Given the description of an element on the screen output the (x, y) to click on. 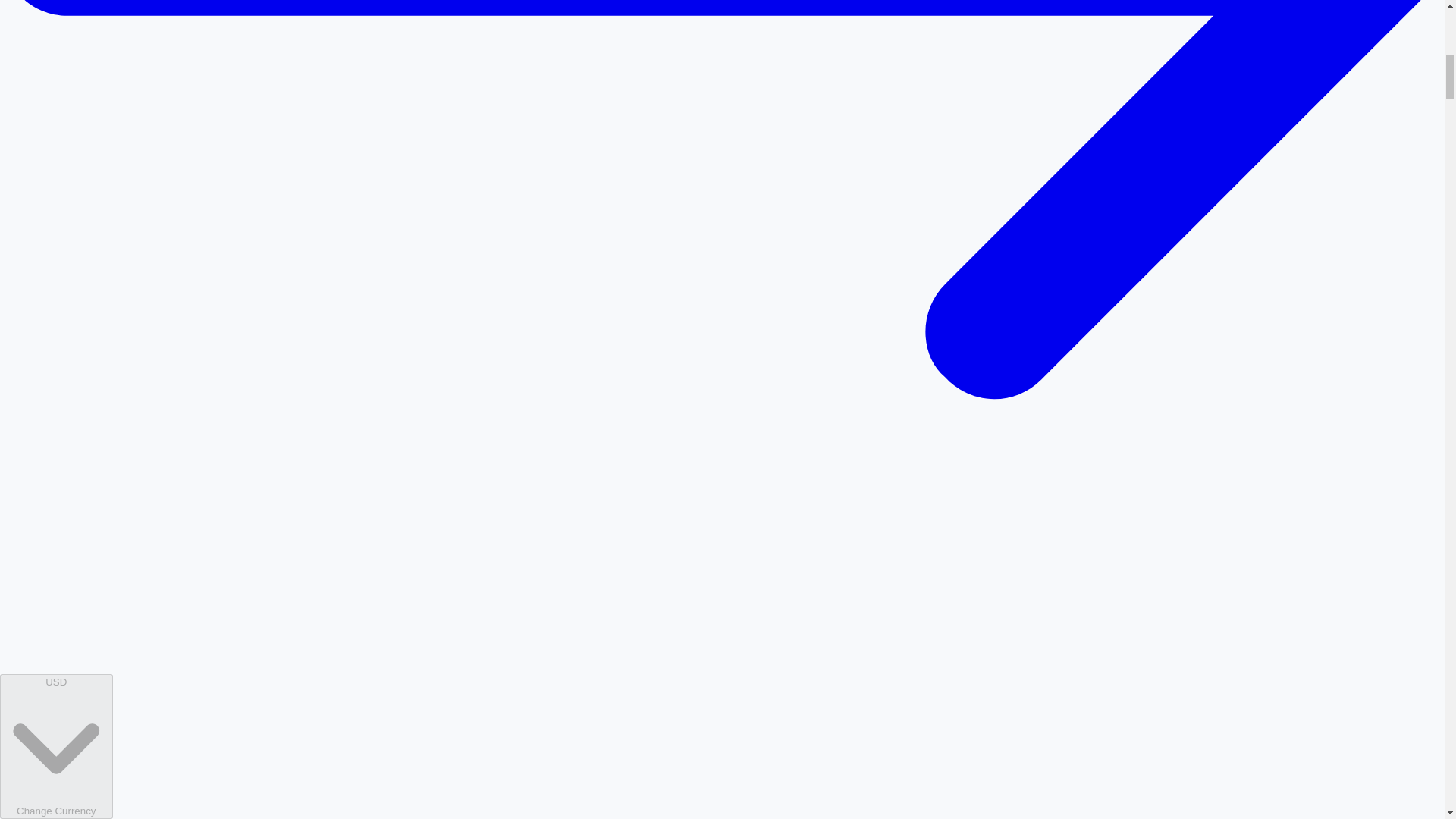
USDChange Currency (56, 746)
